Given the description of an element on the screen output the (x, y) to click on. 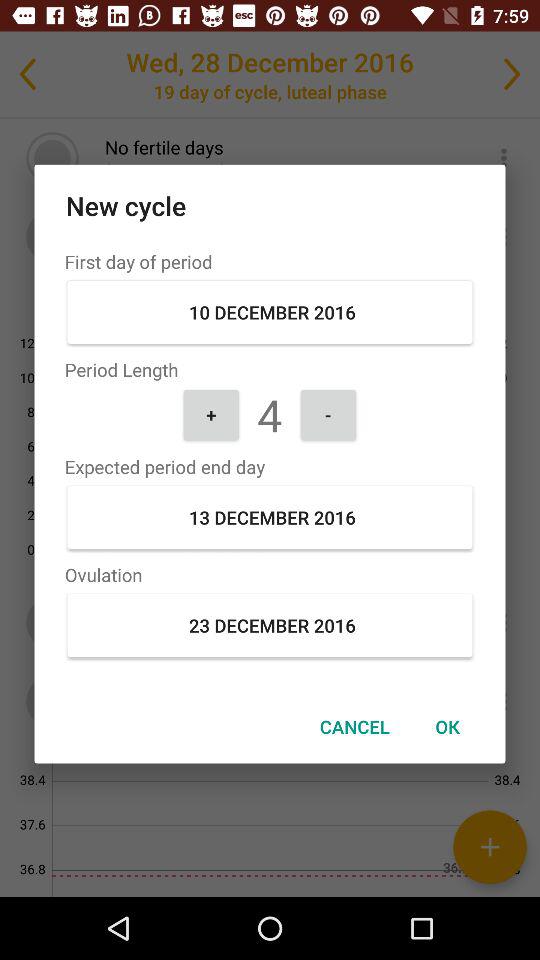
tap item next to cancel icon (447, 726)
